Given the description of an element on the screen output the (x, y) to click on. 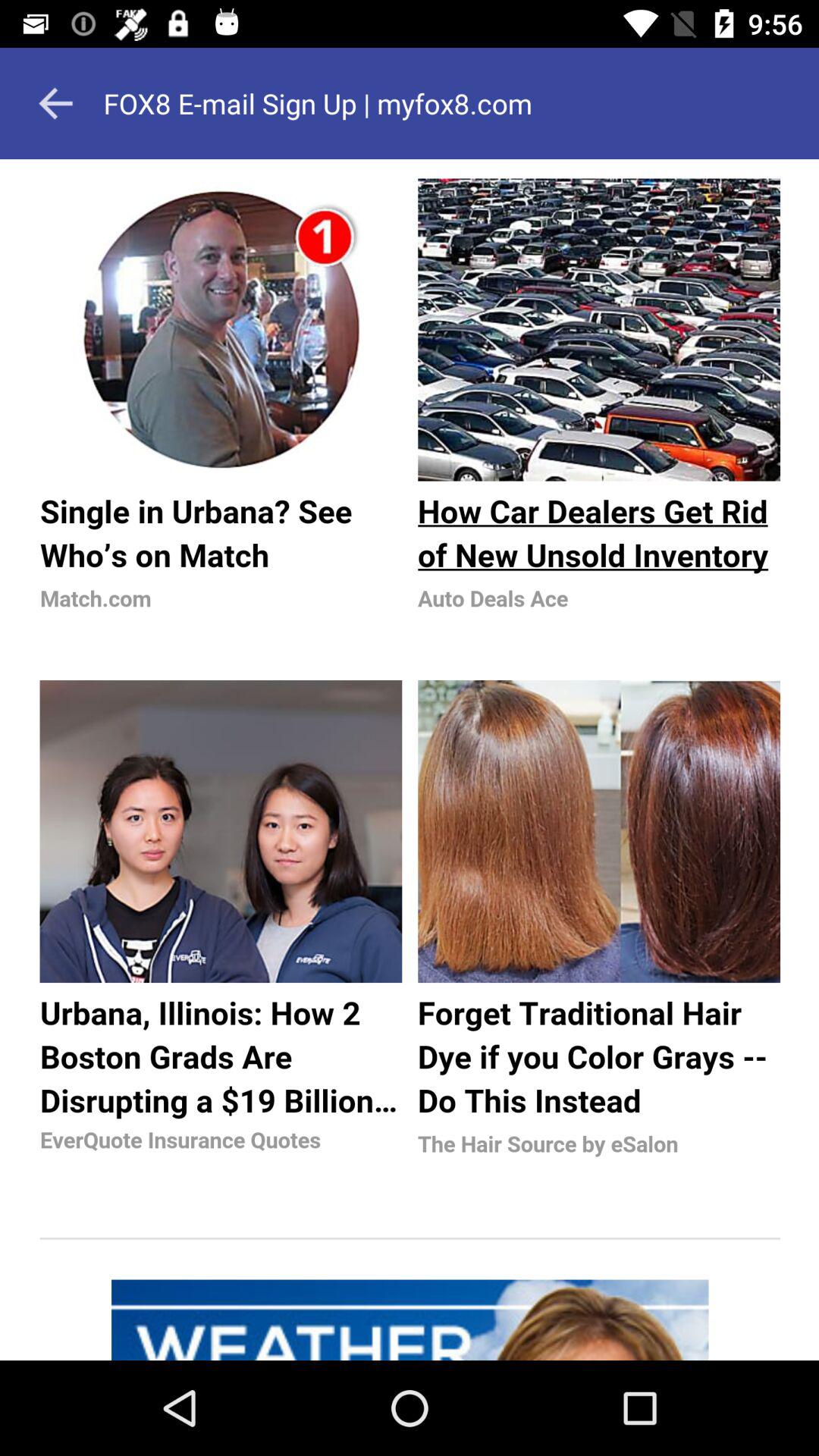
go back (55, 103)
